Given the description of an element on the screen output the (x, y) to click on. 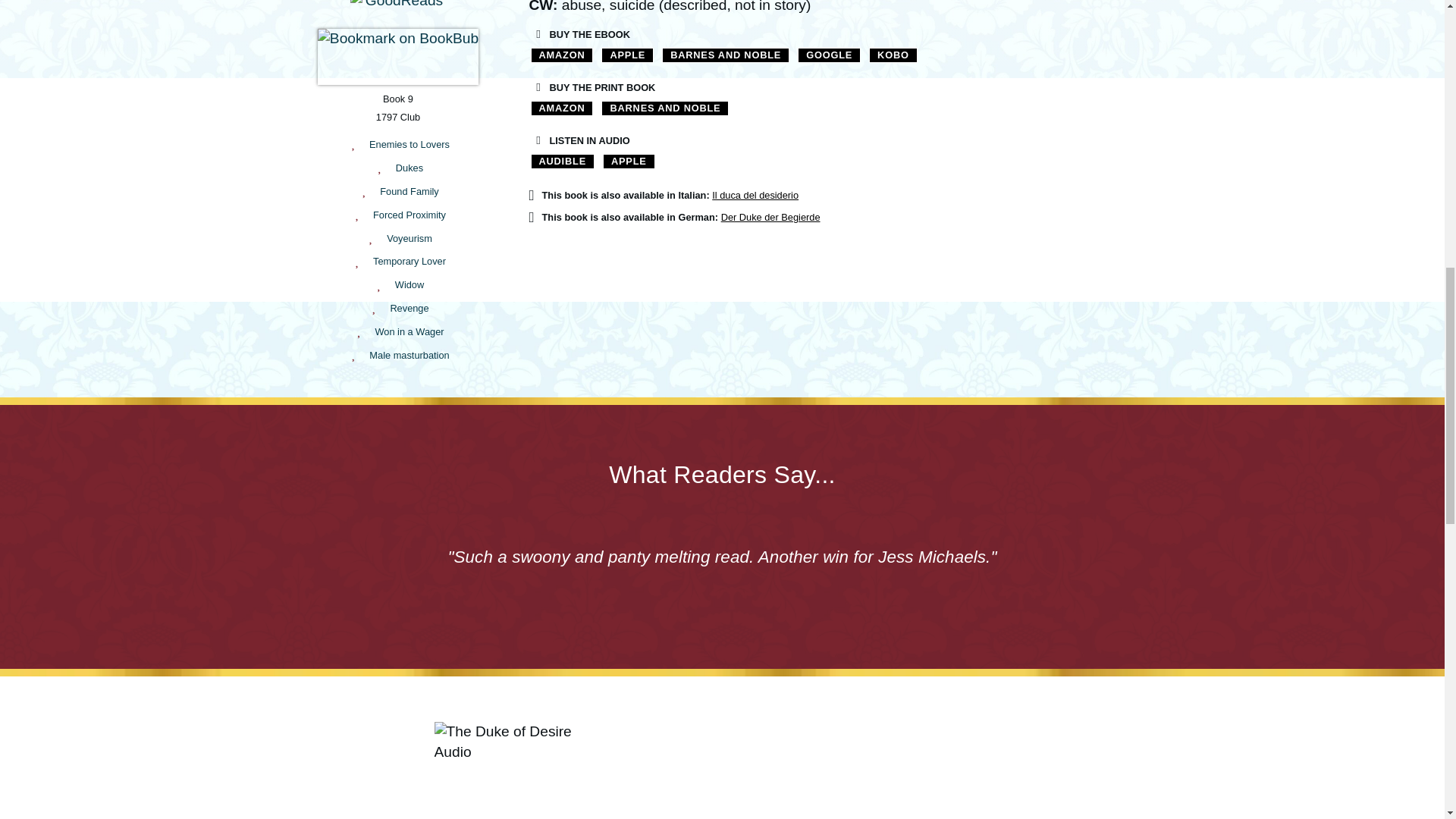
Found Family (409, 191)
Enemies to Lovers (409, 144)
AMAZON (562, 55)
Forced Proximity (408, 214)
Widow (408, 284)
Dukes (409, 167)
Voyeurism (409, 237)
Temporary Lover (408, 260)
Won in a Wager (409, 331)
goodreads (397, 10)
